Given the description of an element on the screen output the (x, y) to click on. 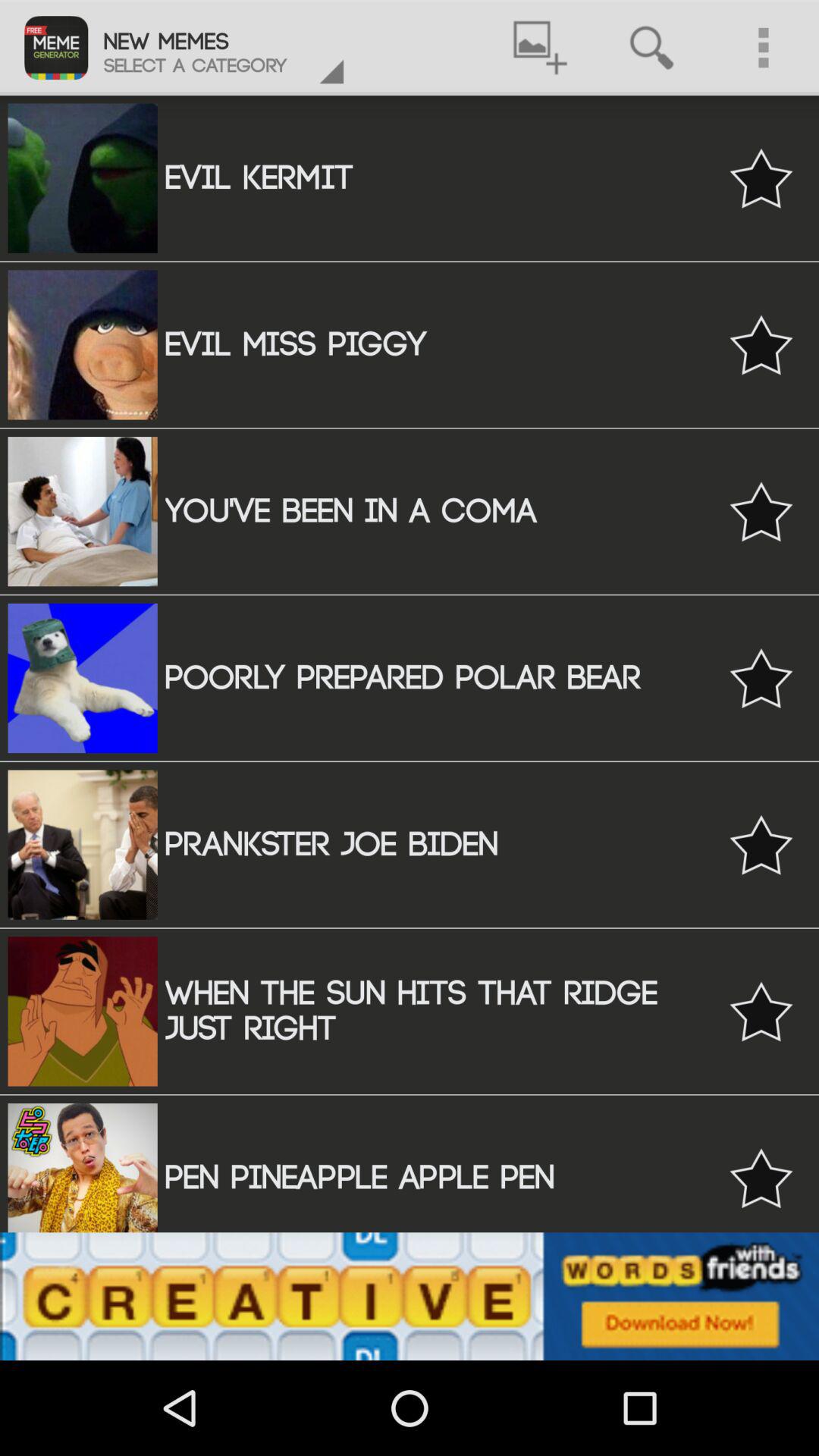
add to favorites (761, 678)
